Given the description of an element on the screen output the (x, y) to click on. 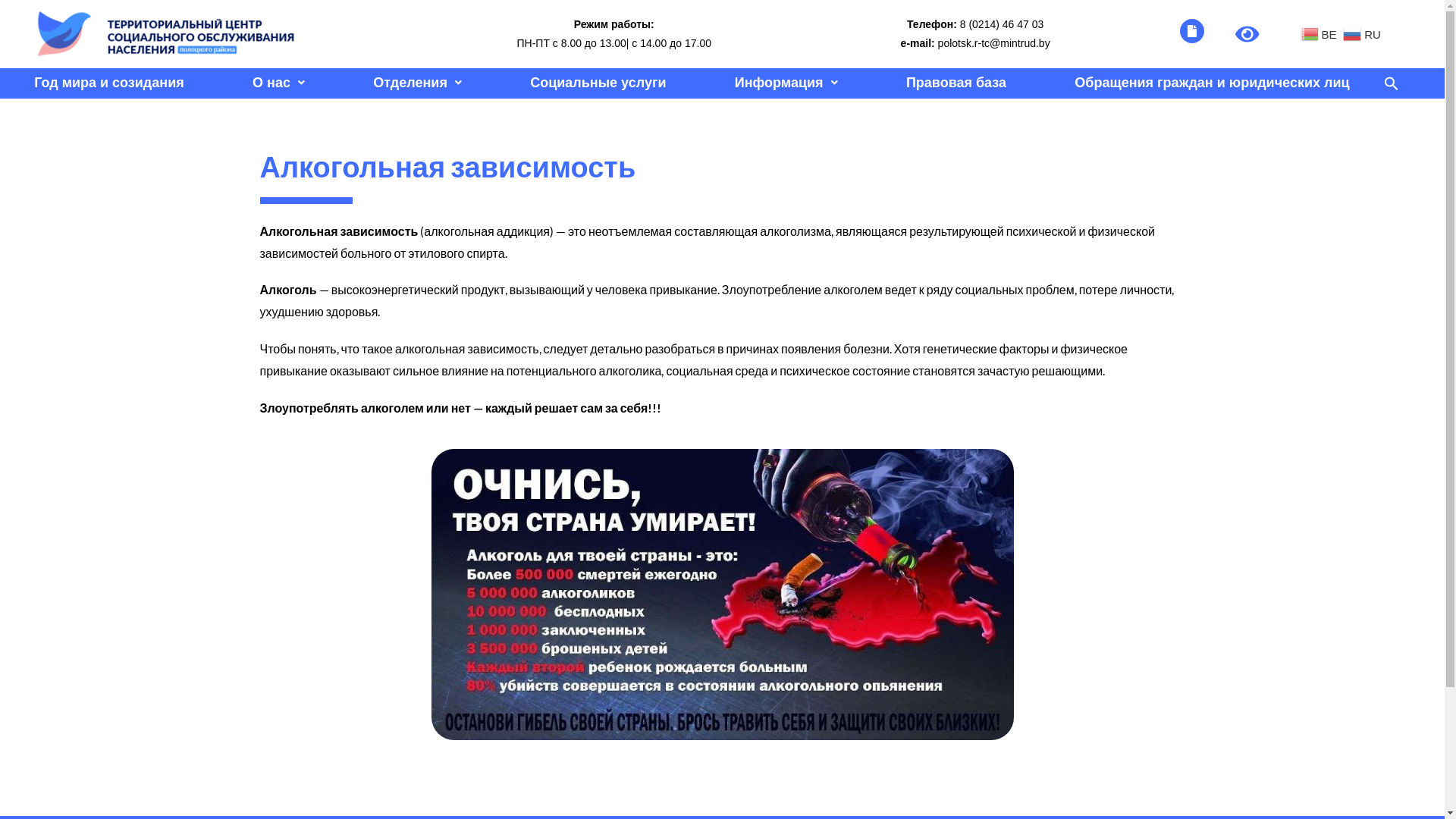
BE Element type: text (1320, 33)
RU Element type: text (1363, 33)
